Given the description of an element on the screen output the (x, y) to click on. 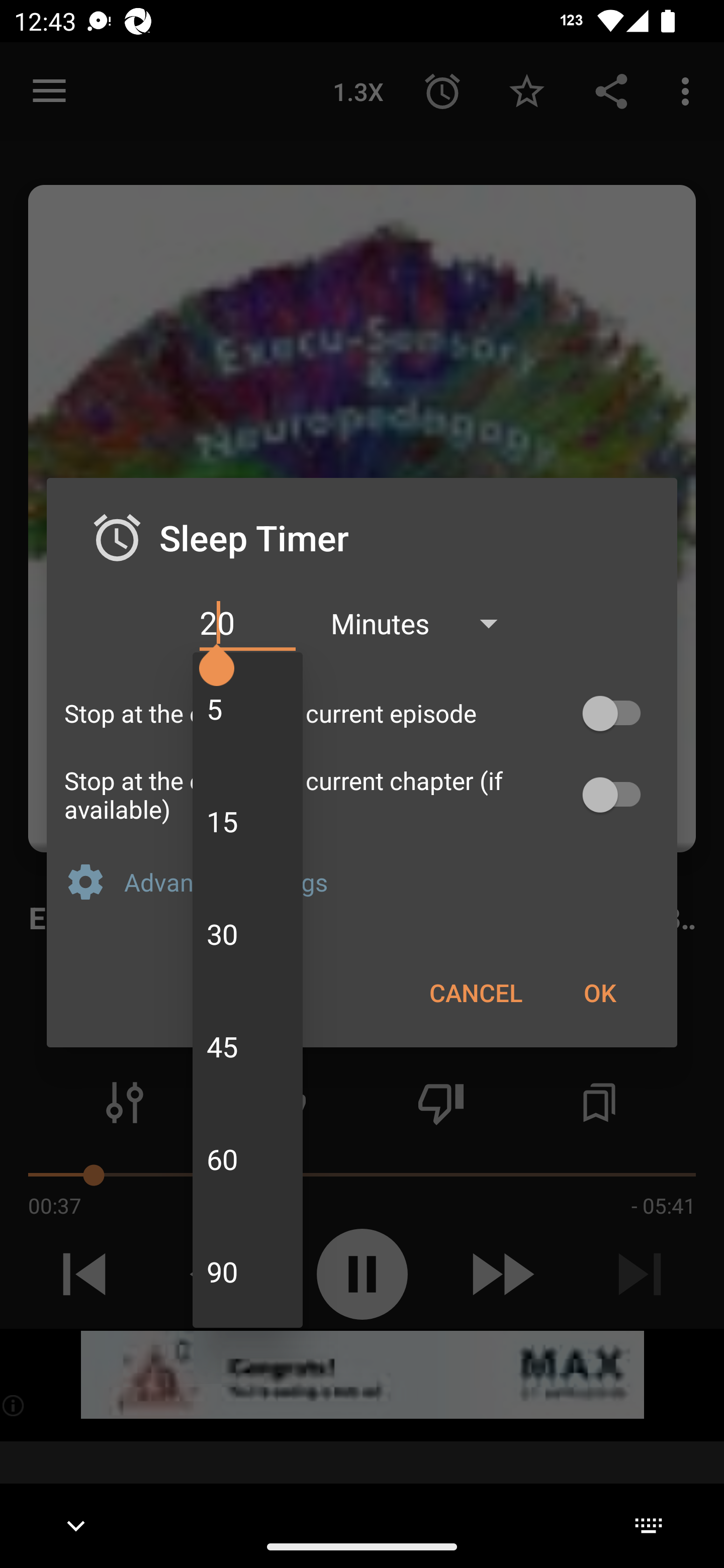
20 (247, 623)
Minutes (423, 623)
Stop at the end of the current episode (361, 712)
Advanced settings (391, 881)
CANCEL (475, 992)
OK (599, 992)
